Given the description of an element on the screen output the (x, y) to click on. 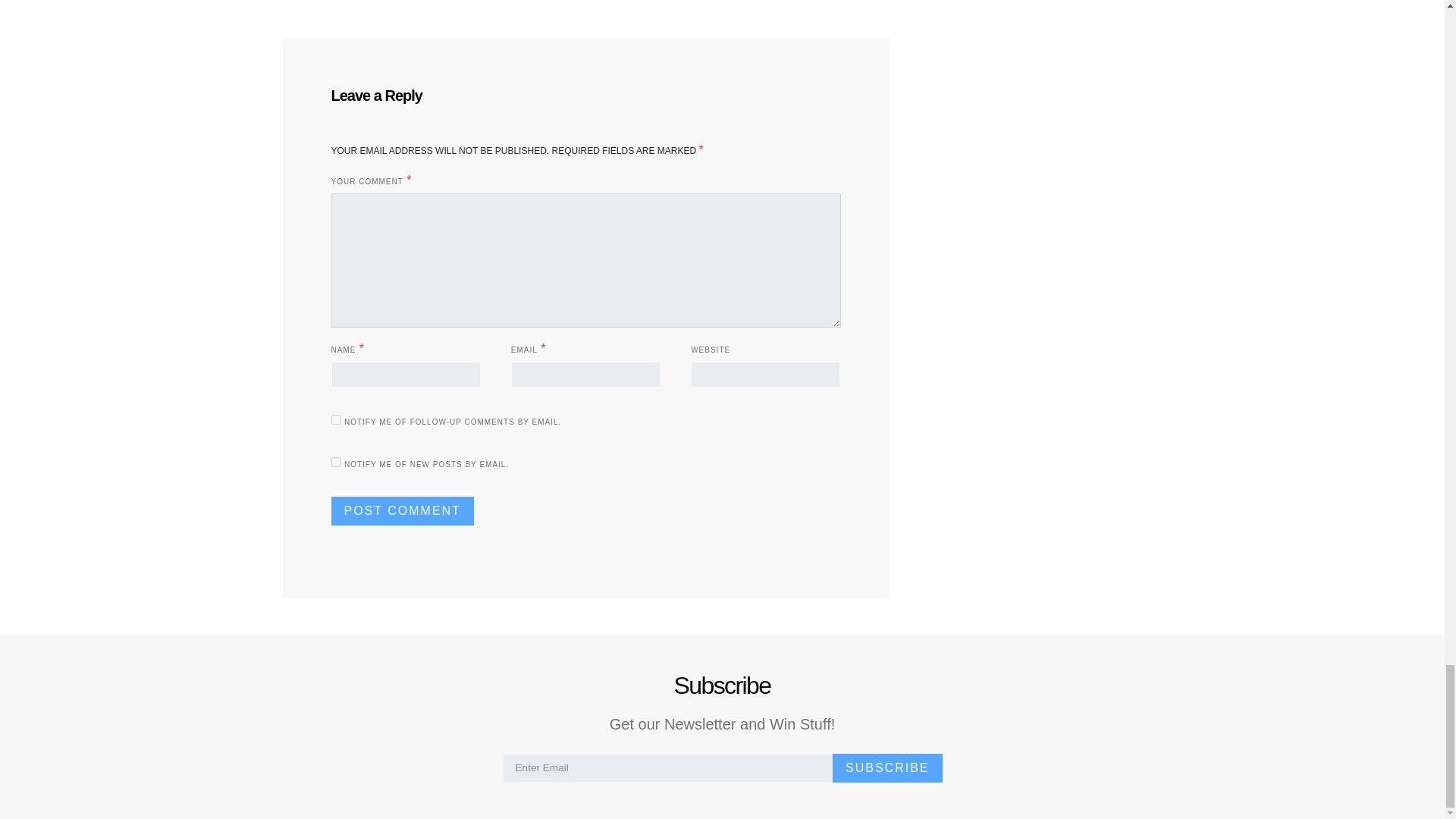
subscribe (335, 461)
Post Comment (401, 510)
subscribe (335, 419)
